Given the description of an element on the screen output the (x, y) to click on. 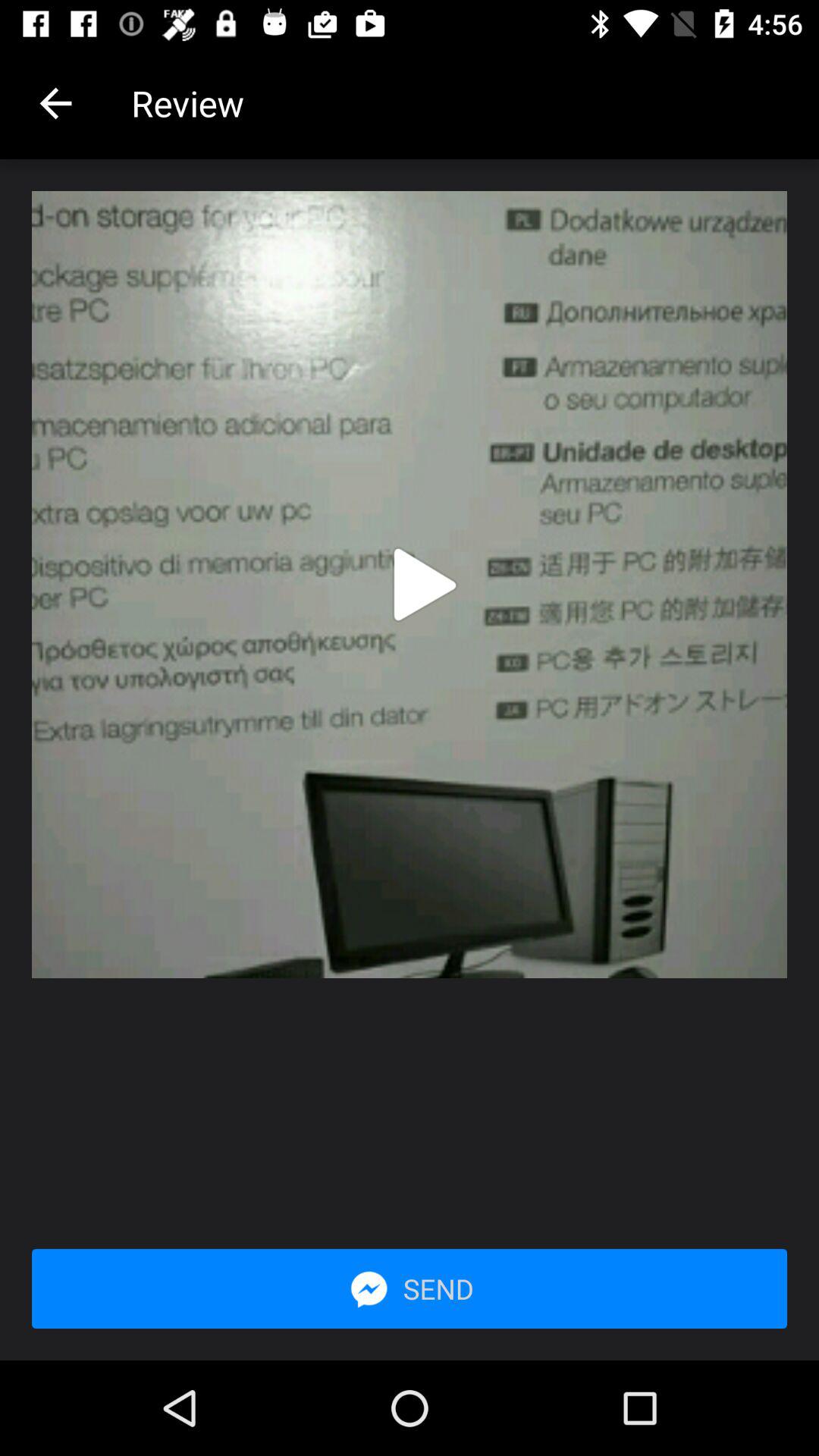
preview video (425, 584)
